Given the description of an element on the screen output the (x, y) to click on. 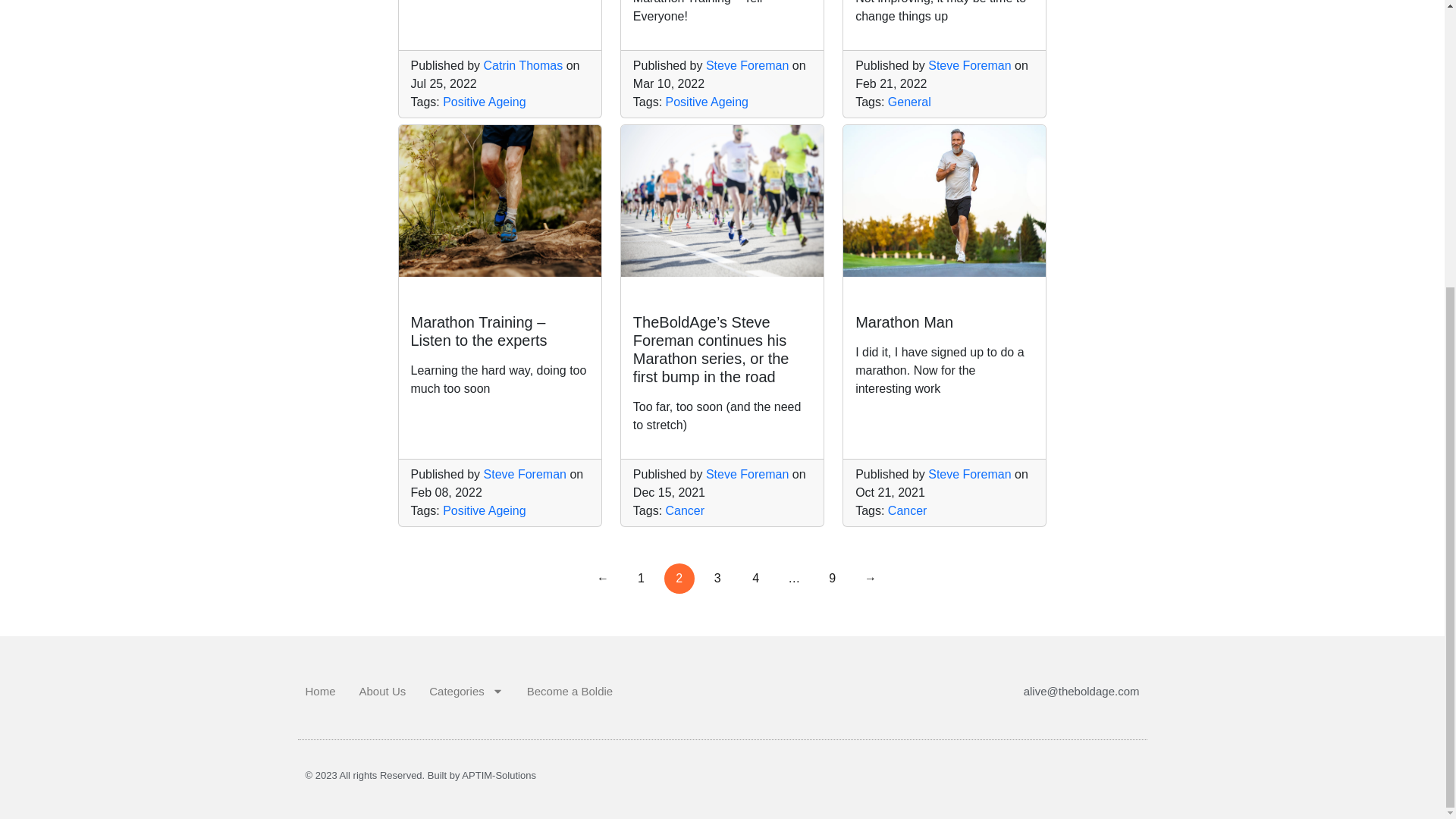
About Us (382, 691)
Positive Ageing (483, 101)
Steve Foreman (969, 473)
Positive Ageing (706, 101)
Steve Foreman (969, 65)
9 (831, 578)
Become a Boldie (569, 691)
Cancer (684, 510)
Steve Foreman (747, 65)
